Given the description of an element on the screen output the (x, y) to click on. 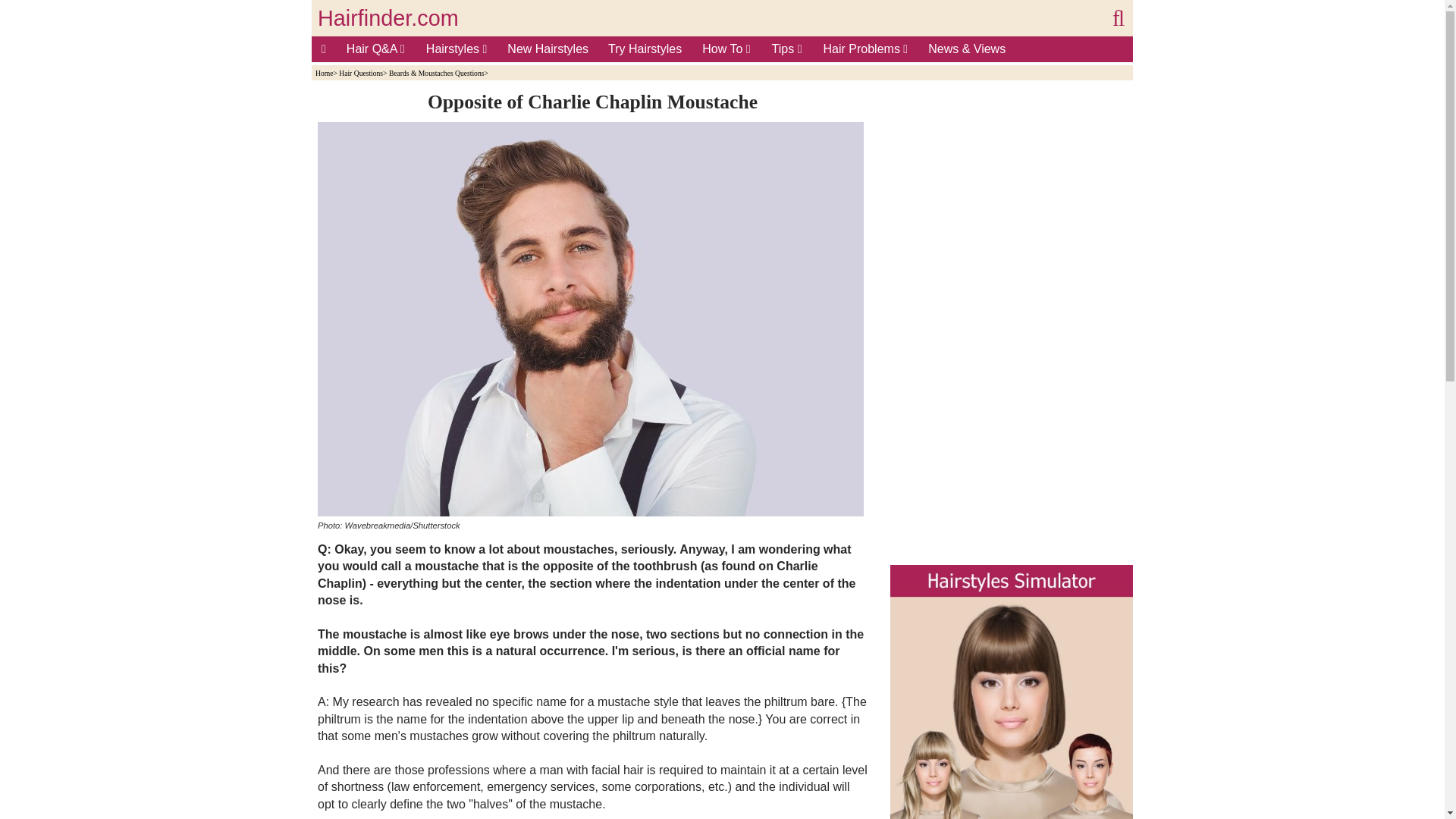
Hairfinder.com (387, 18)
Hairstyles (455, 49)
